Given the description of an element on the screen output the (x, y) to click on. 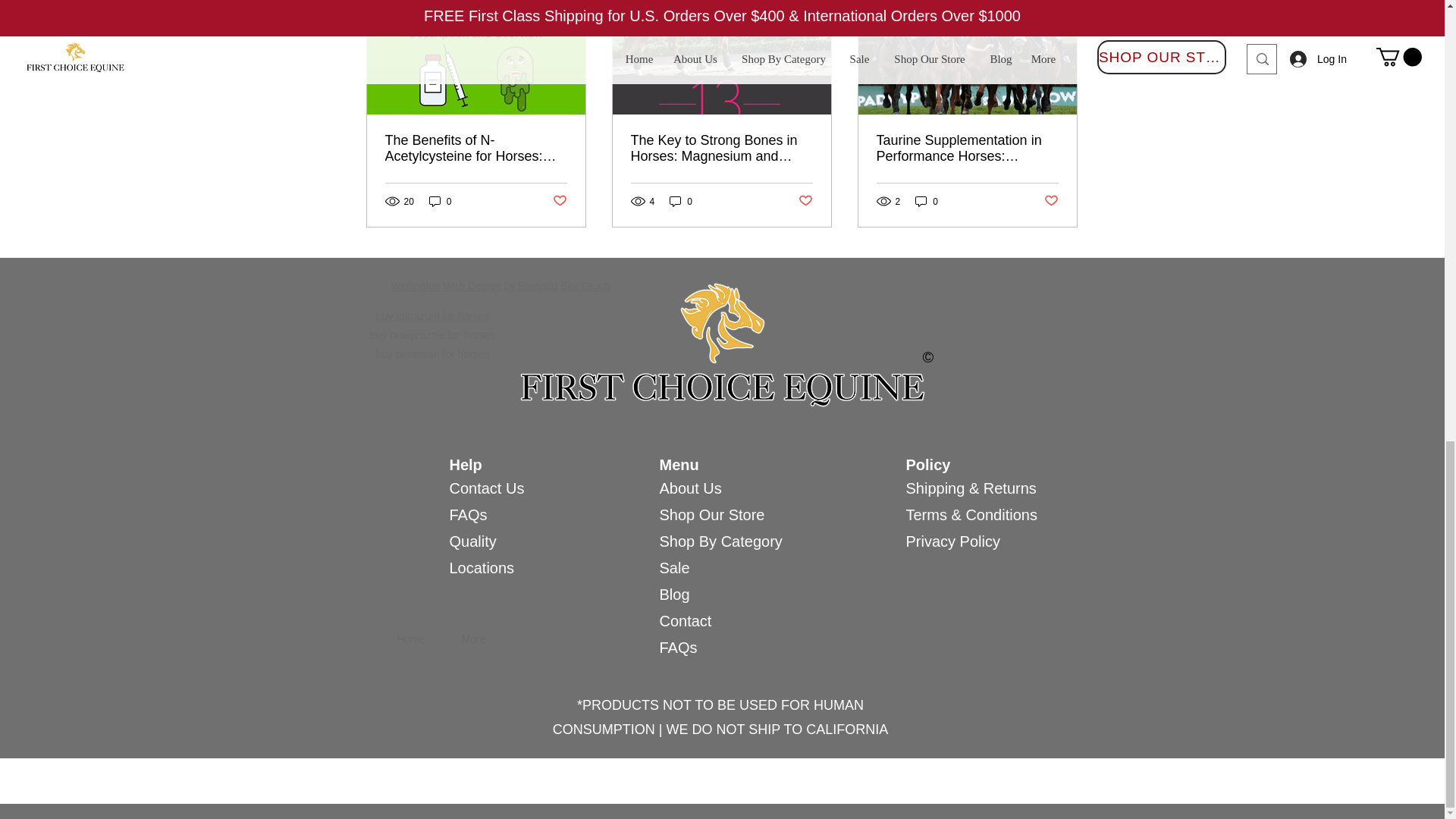
first-choice-equine-horse-supplements-and-vitamins-logo (722, 344)
